Given the description of an element on the screen output the (x, y) to click on. 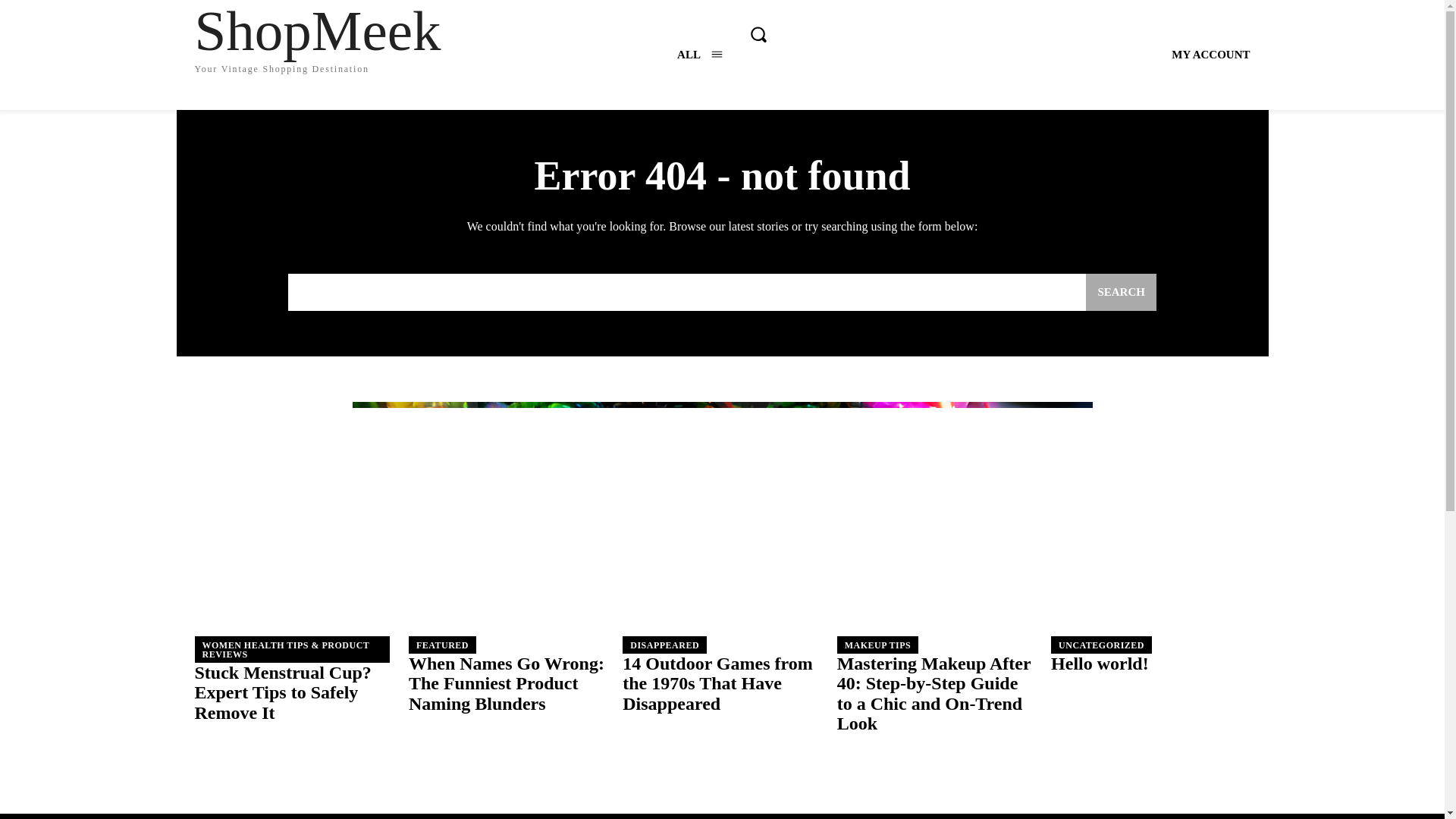
When Names Go Wrong: The Funniest Product Naming Blunders (284, 36)
When Names Go Wrong: The Funniest Product Naming Blunders (508, 576)
ALL (506, 683)
Stuck Menstrual Cup? Expert Tips to Safely Remove It (699, 54)
All (293, 576)
Stuck Menstrual Cup? Expert Tips to Safely Remove It (699, 54)
